Given the description of an element on the screen output the (x, y) to click on. 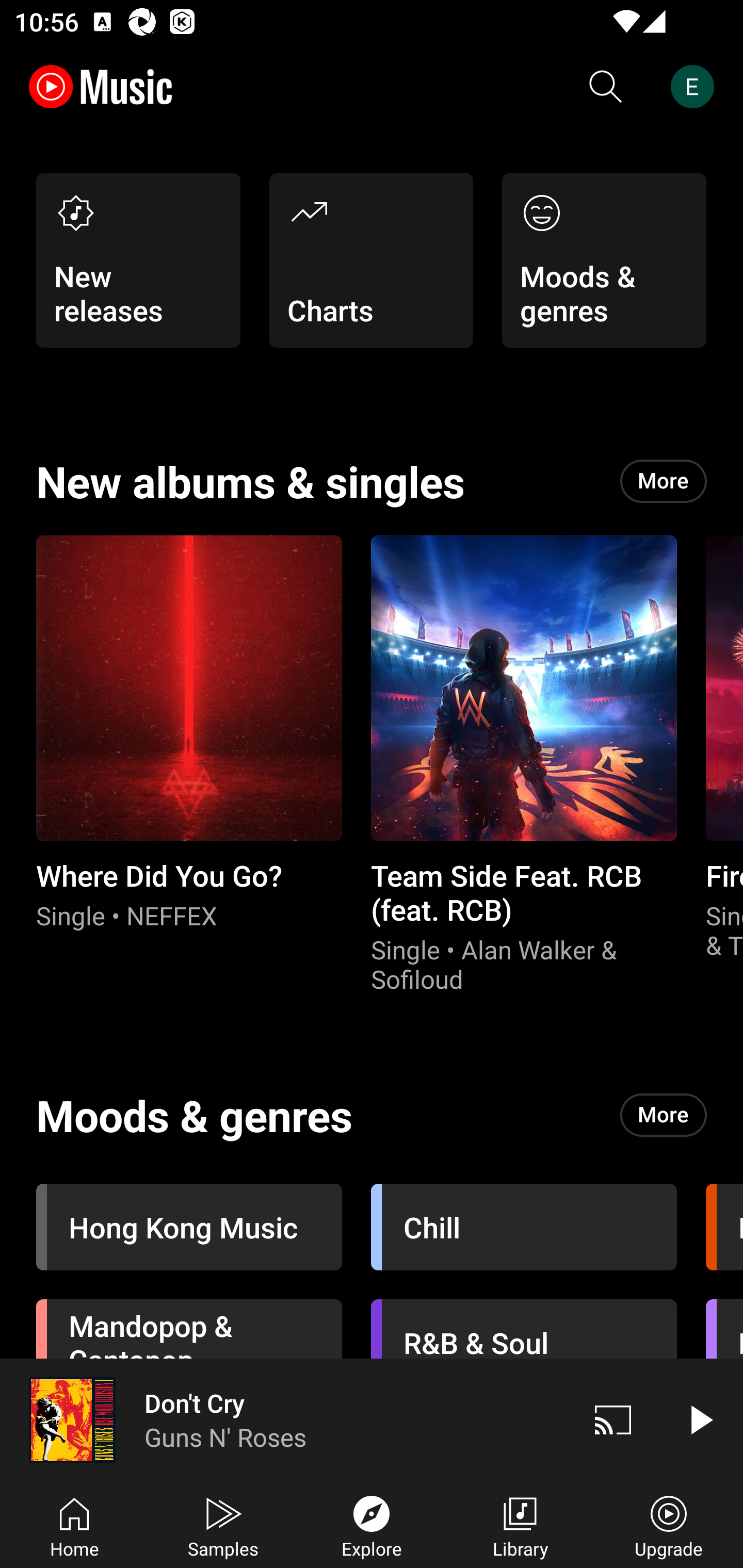
Search (605, 86)
Account (696, 86)
Don't Cry Guns N' Roses (284, 1419)
Cast. Disconnected (612, 1419)
Play video (699, 1419)
Home (74, 1524)
Samples (222, 1524)
Library (519, 1524)
Upgrade (668, 1524)
